Given the description of an element on the screen output the (x, y) to click on. 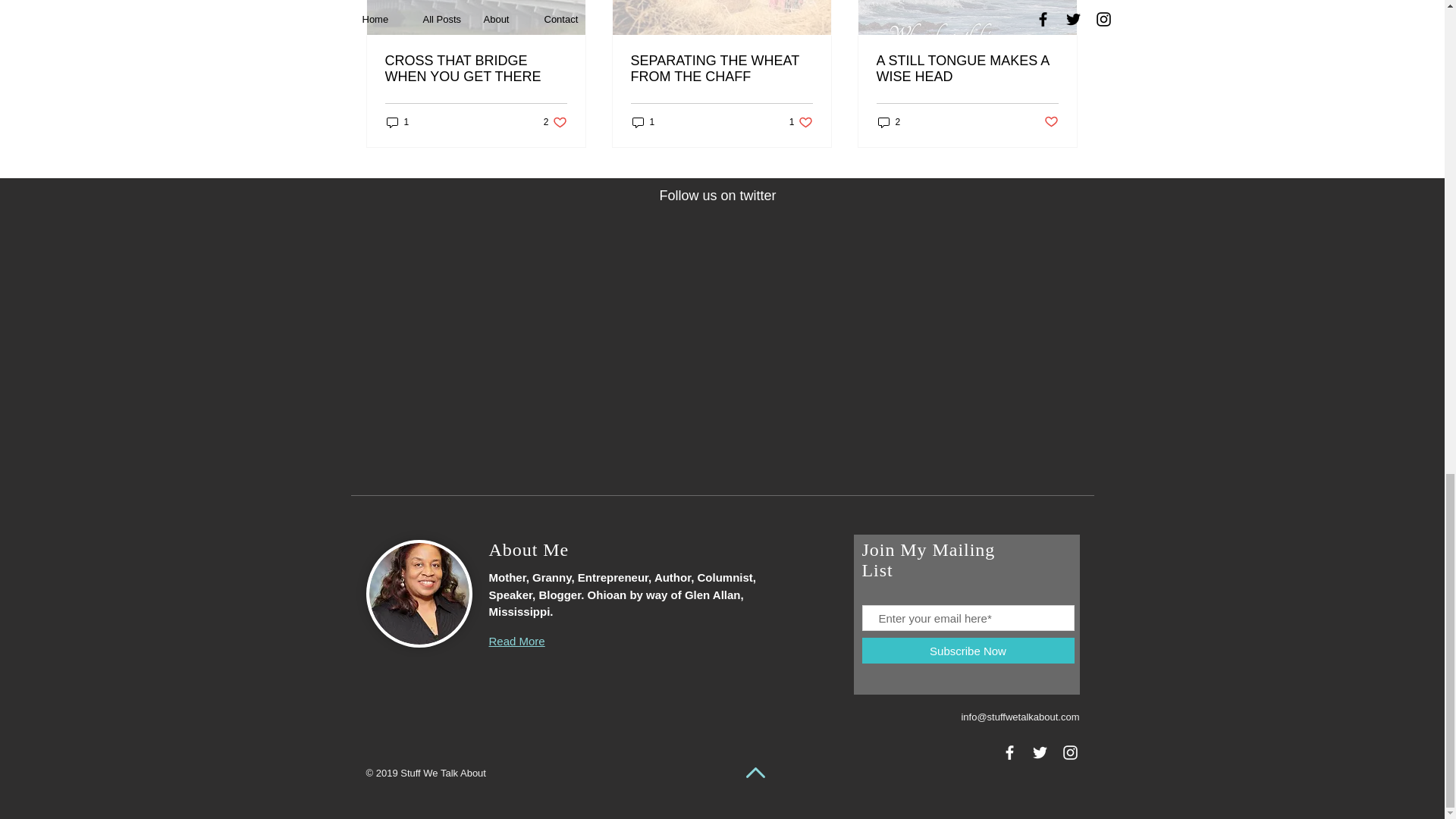
SEPARATING THE WHEAT FROM THE CHAFF (721, 69)
1 (643, 121)
1 (397, 121)
CROSS THAT BRIDGE WHEN YOU GET THERE (555, 121)
